Given the description of an element on the screen output the (x, y) to click on. 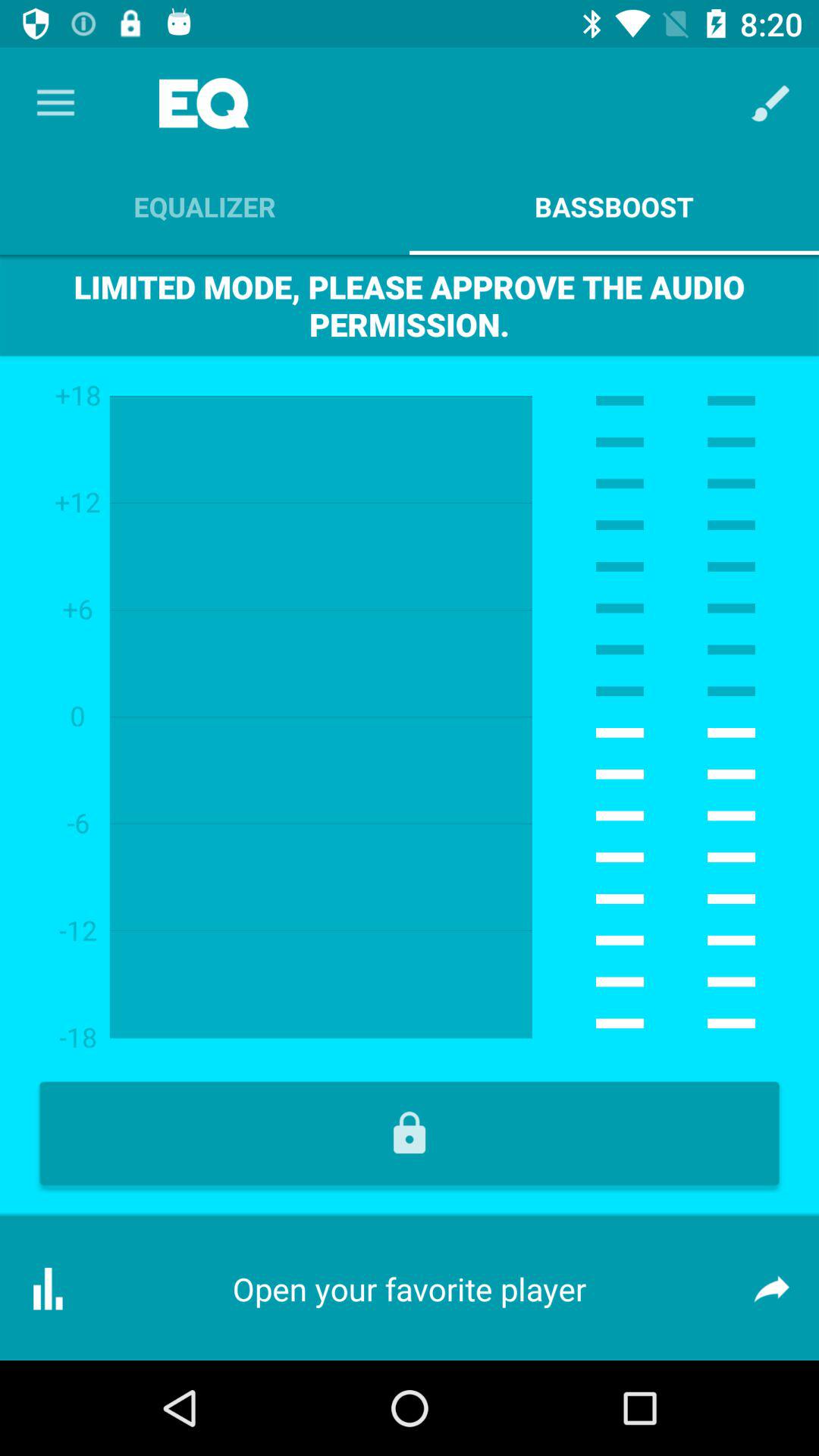
open the equalizer icon (204, 206)
